Given the description of an element on the screen output the (x, y) to click on. 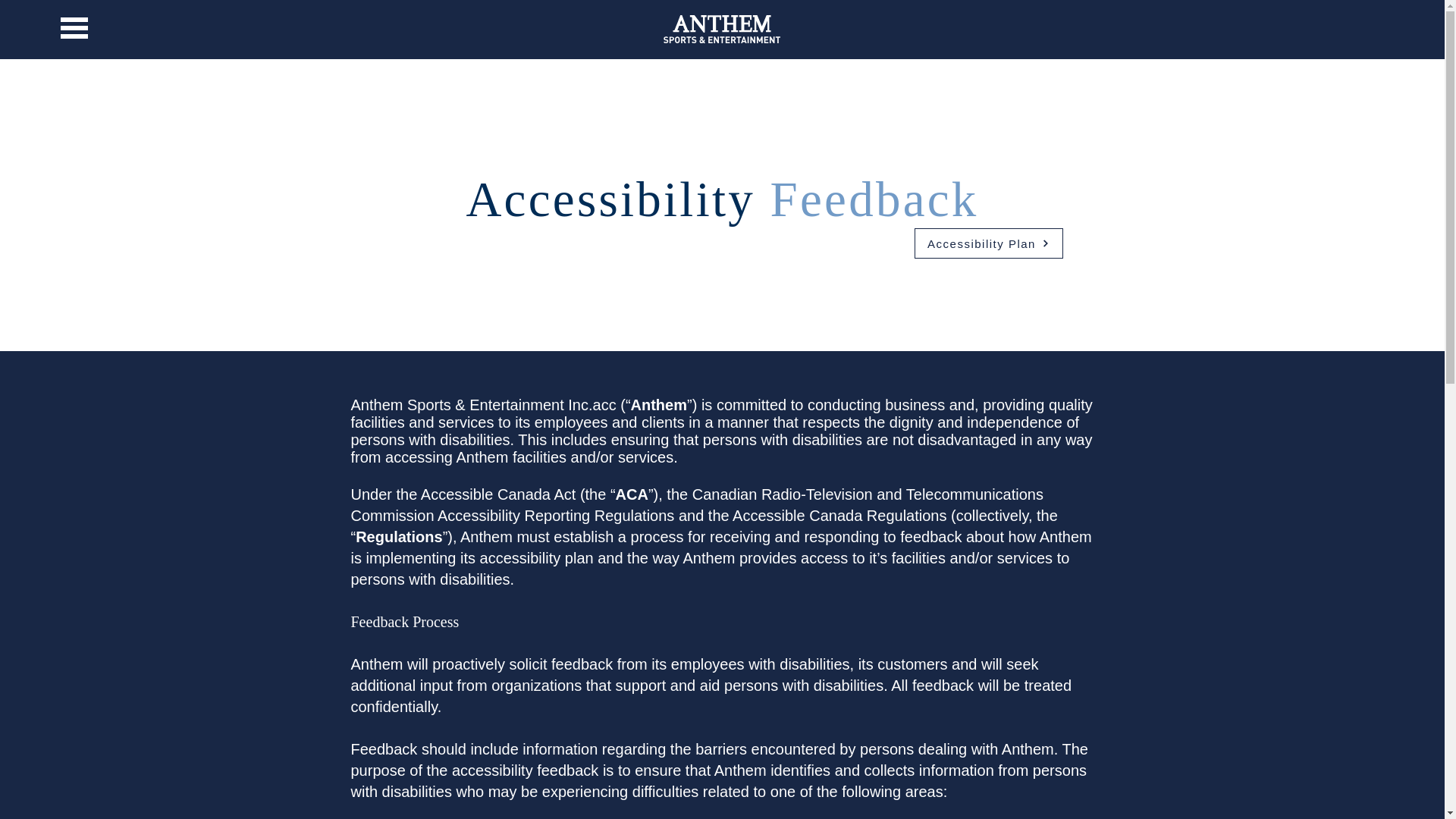
Accessibility Plan (988, 243)
